Given the description of an element on the screen output the (x, y) to click on. 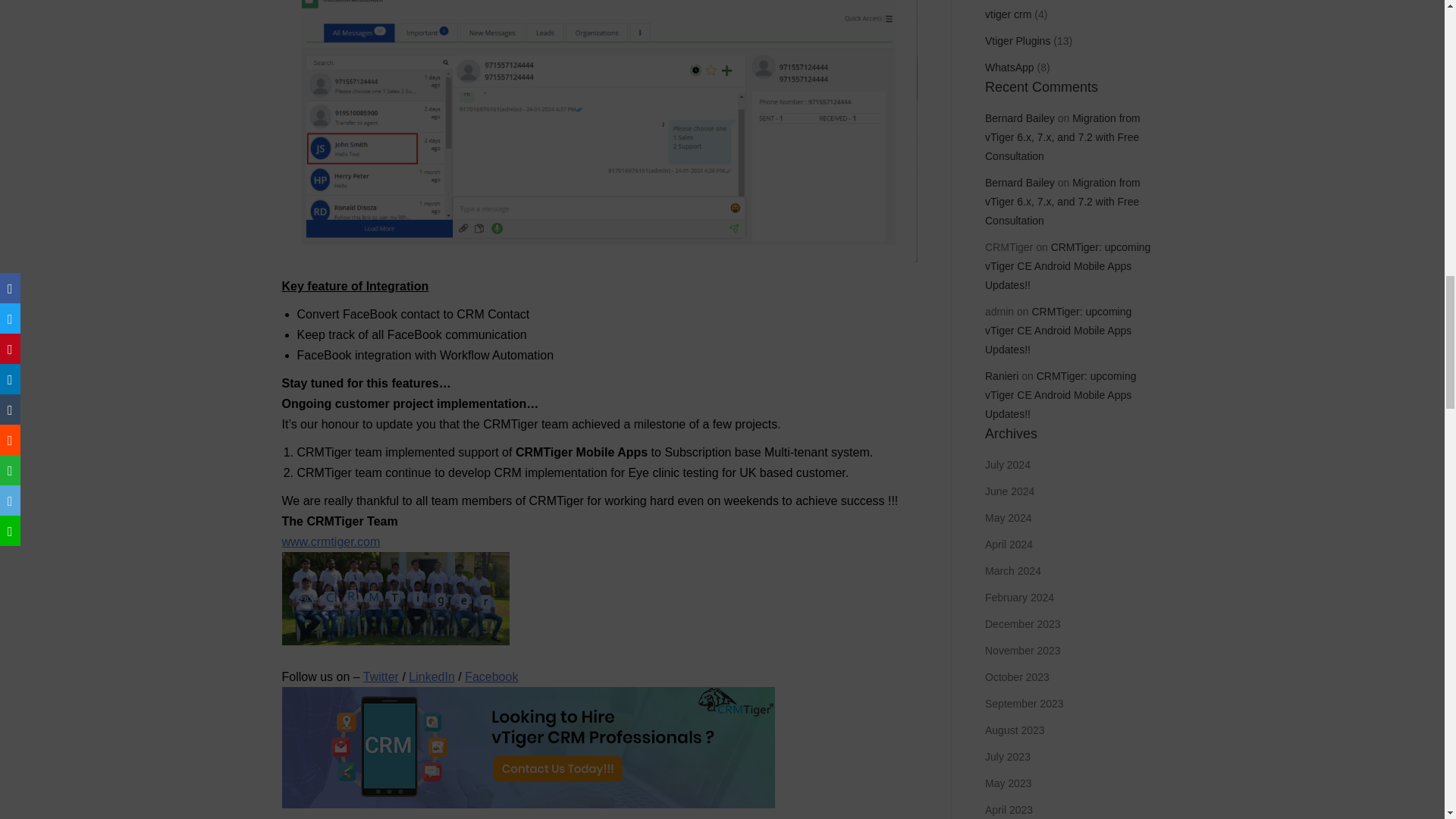
Twitter (380, 676)
www.crmtiger.com (331, 541)
www.crmtiger.com (331, 541)
Facebook (491, 676)
LinkedIn (431, 676)
